Given the description of an element on the screen output the (x, y) to click on. 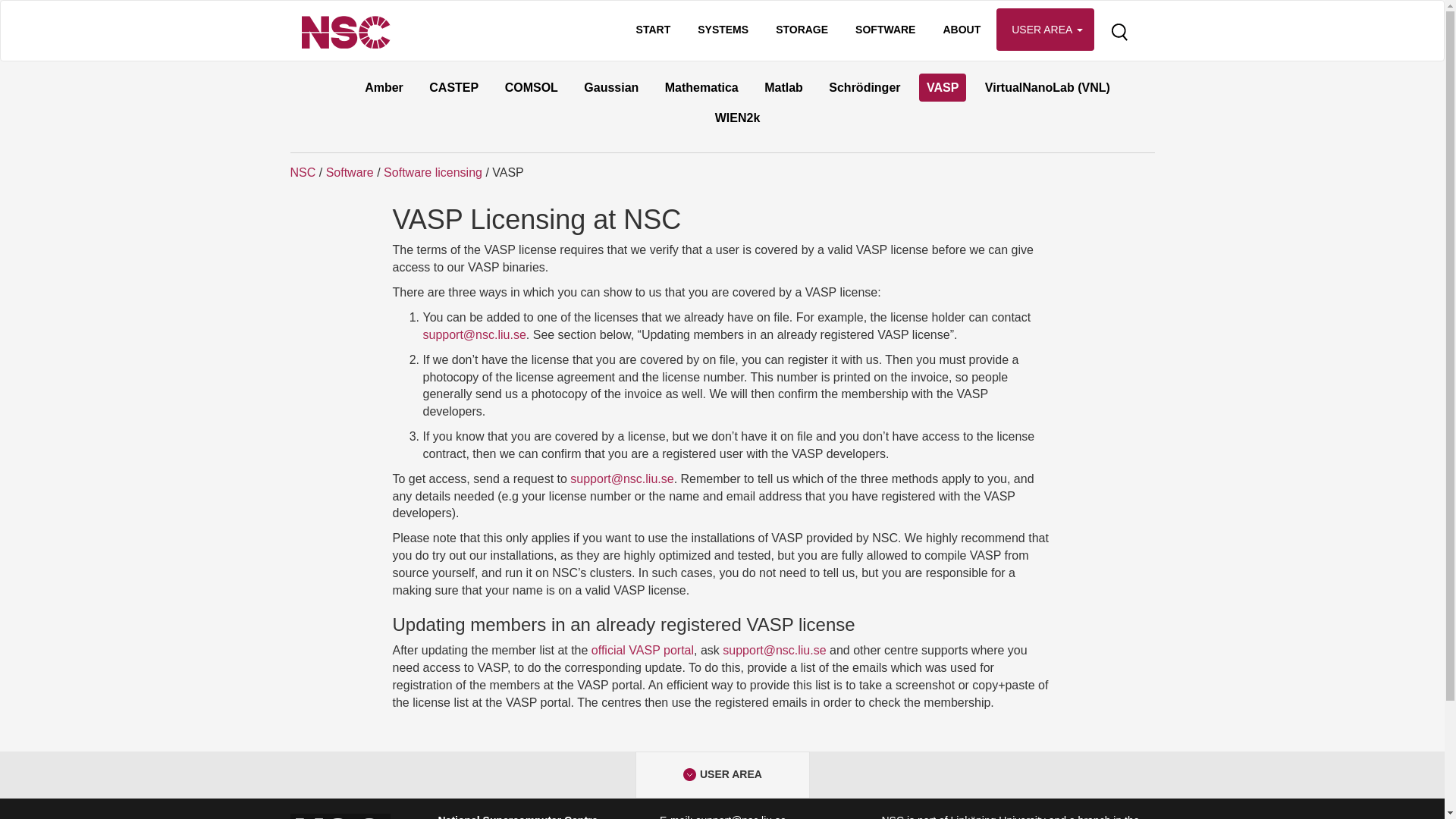
COMSOL (531, 87)
Mathematica (701, 87)
Amber (383, 87)
WIEN2k (737, 117)
NSC (302, 172)
VASP (942, 87)
Search (1119, 32)
Portal for new and existing users (689, 774)
CASTEP (454, 87)
SYSTEMS (722, 29)
